Given the description of an element on the screen output the (x, y) to click on. 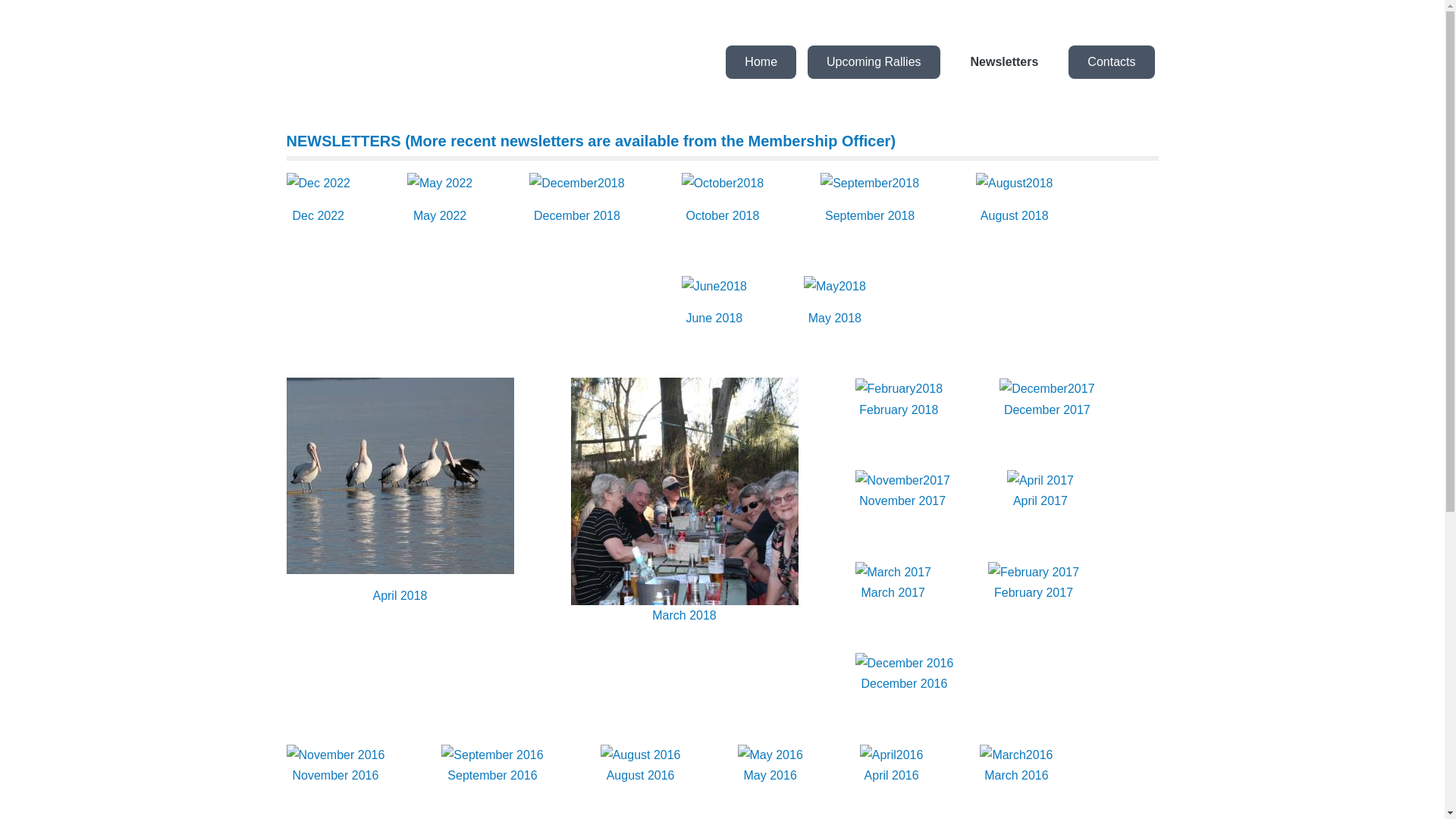
March 2017 Element type: text (893, 592)
November 2017 Element type: text (902, 500)
December 2018 Element type: text (576, 215)
April 2018 Element type: text (399, 595)
August 2018 Element type: text (1014, 215)
May 2022 Element type: text (439, 215)
March 2016 Element type: text (1016, 774)
February 2018 Element type: text (898, 409)
August 2016 Element type: text (640, 774)
November 2016 Element type: text (335, 774)
May 2018 Element type: text (834, 317)
December 2016 Element type: text (904, 683)
May 2016 Element type: text (770, 774)
April 2016 Element type: text (891, 774)
Contacts Element type: text (1111, 61)
September 2016 Element type: text (491, 774)
Upcoming Rallies Element type: text (873, 61)
Dec 2022 Element type: text (318, 215)
Newsletters Element type: text (1004, 61)
December 2017 Element type: text (1047, 409)
February 2017 Element type: text (1033, 592)
June 2018 Element type: text (713, 317)
March 2018 Element type: text (684, 614)
Home Element type: text (760, 61)
October 2018 Element type: text (722, 215)
September 2018 Element type: text (869, 215)
April 2017 Element type: text (1040, 500)
